Given the description of an element on the screen output the (x, y) to click on. 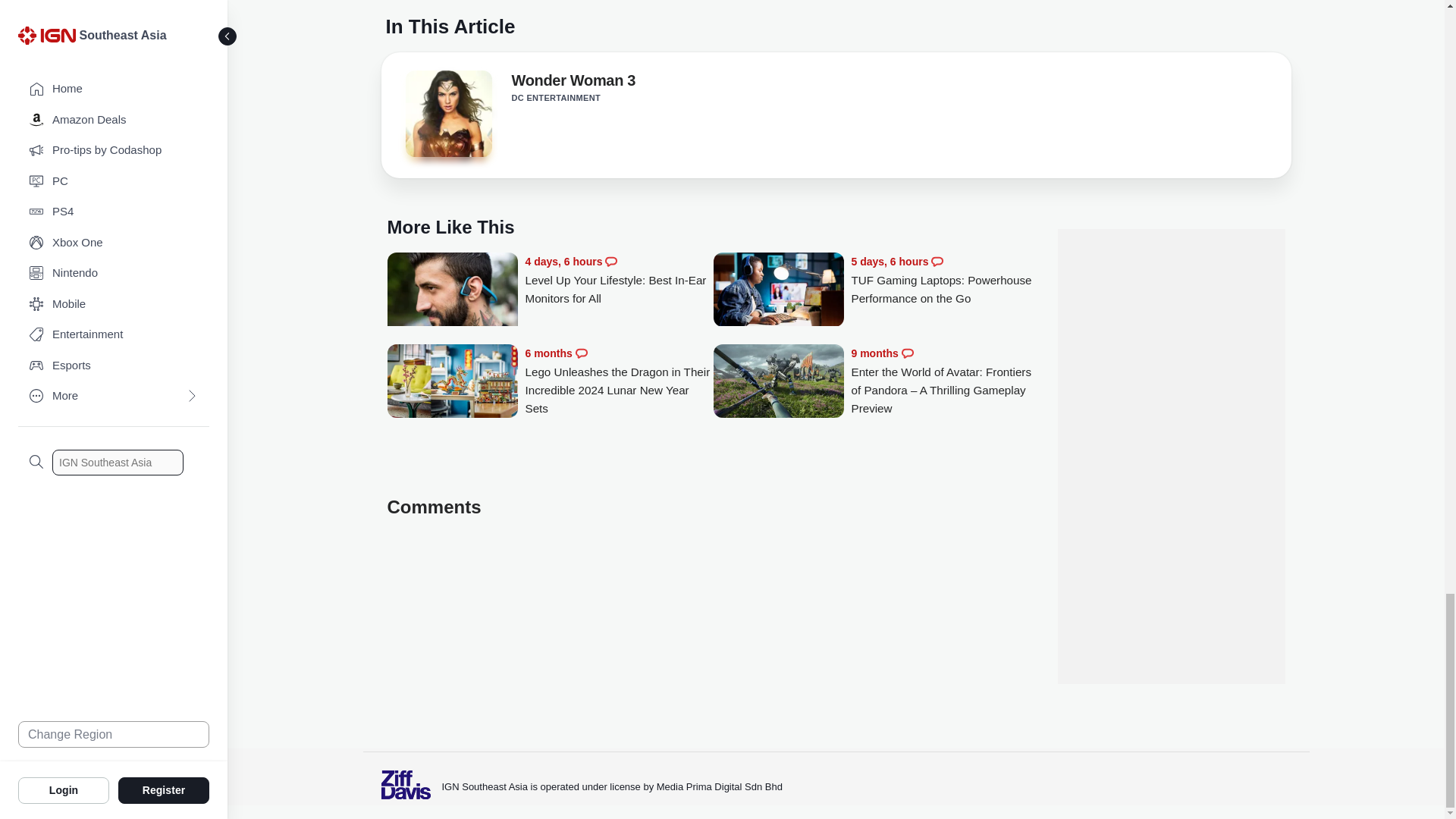
Level Up Your Lifestyle: Best In-Ear Monitors for All (451, 297)
TUF Gaming Laptops: Powerhouse Performance on the Go (778, 290)
TUF Gaming Laptops: Powerhouse Performance on the Go (944, 279)
Comments (937, 261)
Comments (581, 353)
Wonder Woman 3 (448, 118)
Wonder Woman 3 (572, 83)
Level Up Your Lifestyle: Best In-Ear Monitors for All (618, 279)
Comments (611, 261)
Wonder Woman 3 (448, 113)
